Given the description of an element on the screen output the (x, y) to click on. 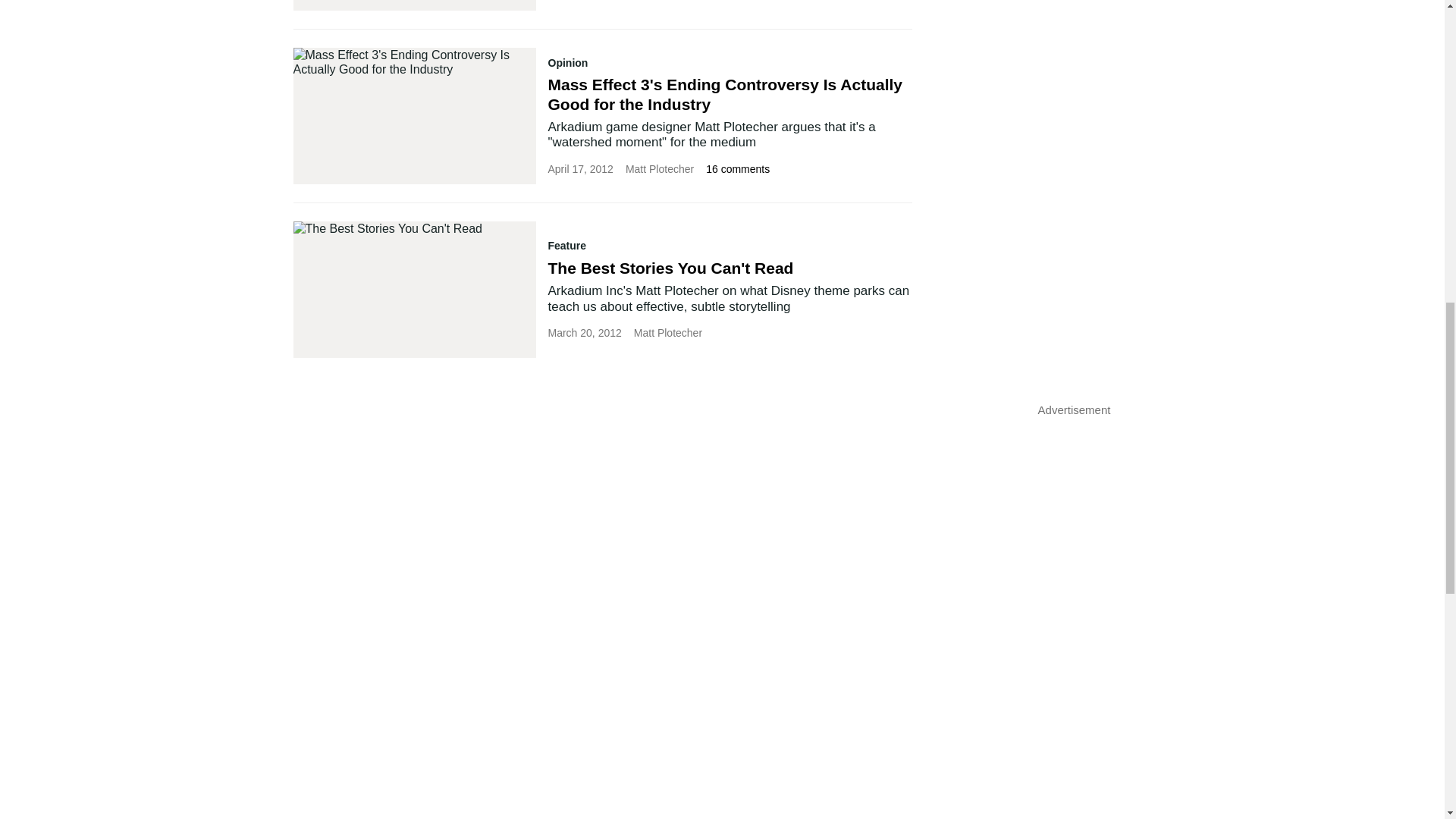
16 comments (738, 168)
The Best Stories You Can't Read (670, 267)
